Given the description of an element on the screen output the (x, y) to click on. 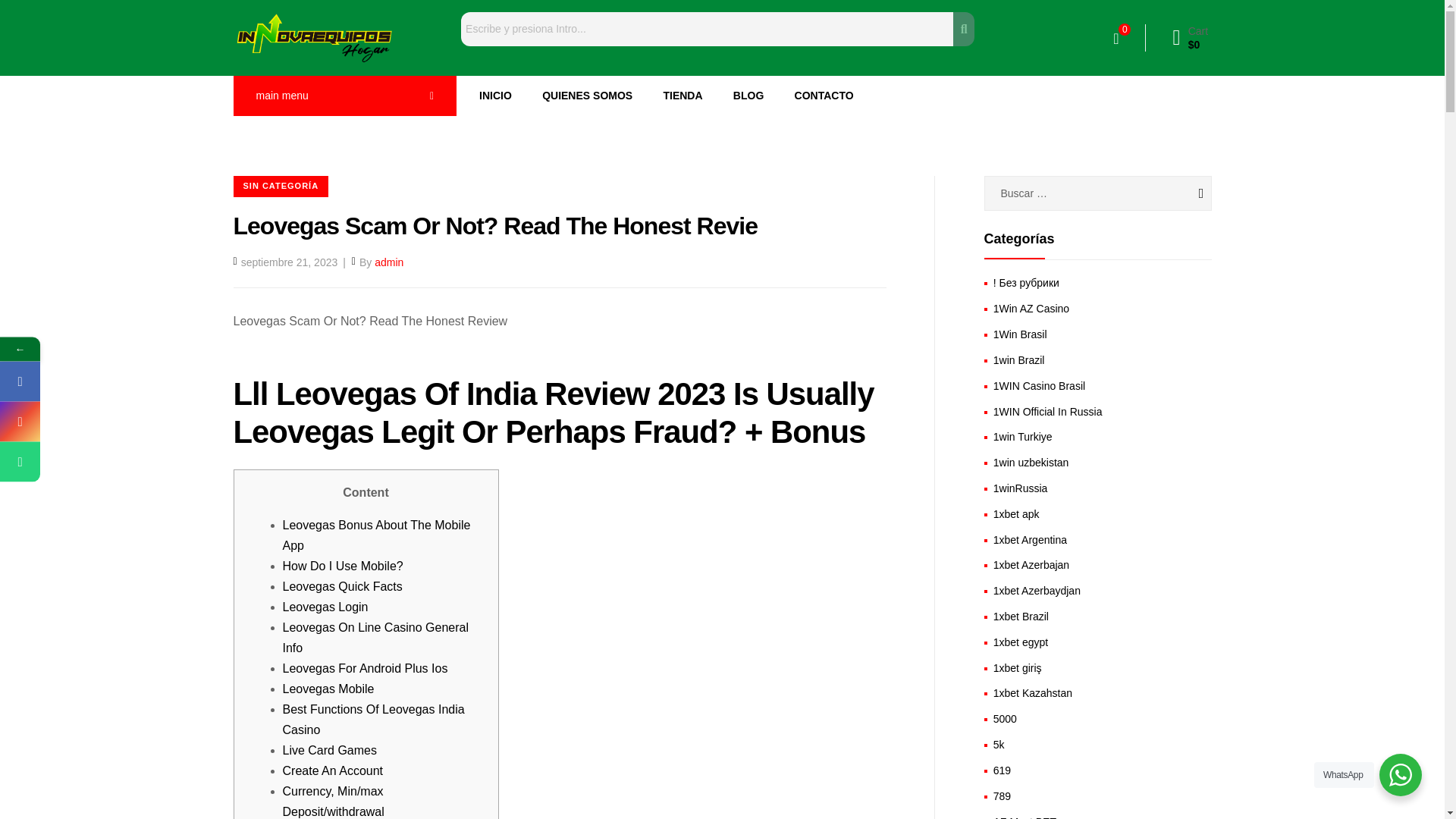
Buscar (1181, 193)
Create An Account (332, 770)
septiembre 21, 2023 (289, 262)
Leovegas On Line Casino General Info (375, 637)
INICIO (495, 96)
Best Functions Of Leovegas India Casino (373, 719)
View your shopping cart (1190, 37)
CONTACTO (823, 96)
Buscar (707, 28)
Leovegas Quick Facts (341, 585)
QUIENES SOMOS (587, 96)
Leovegas Login (325, 606)
admin (388, 262)
Leovegas For Android Plus Ios (364, 667)
Live Card Games (329, 749)
